Given the description of an element on the screen output the (x, y) to click on. 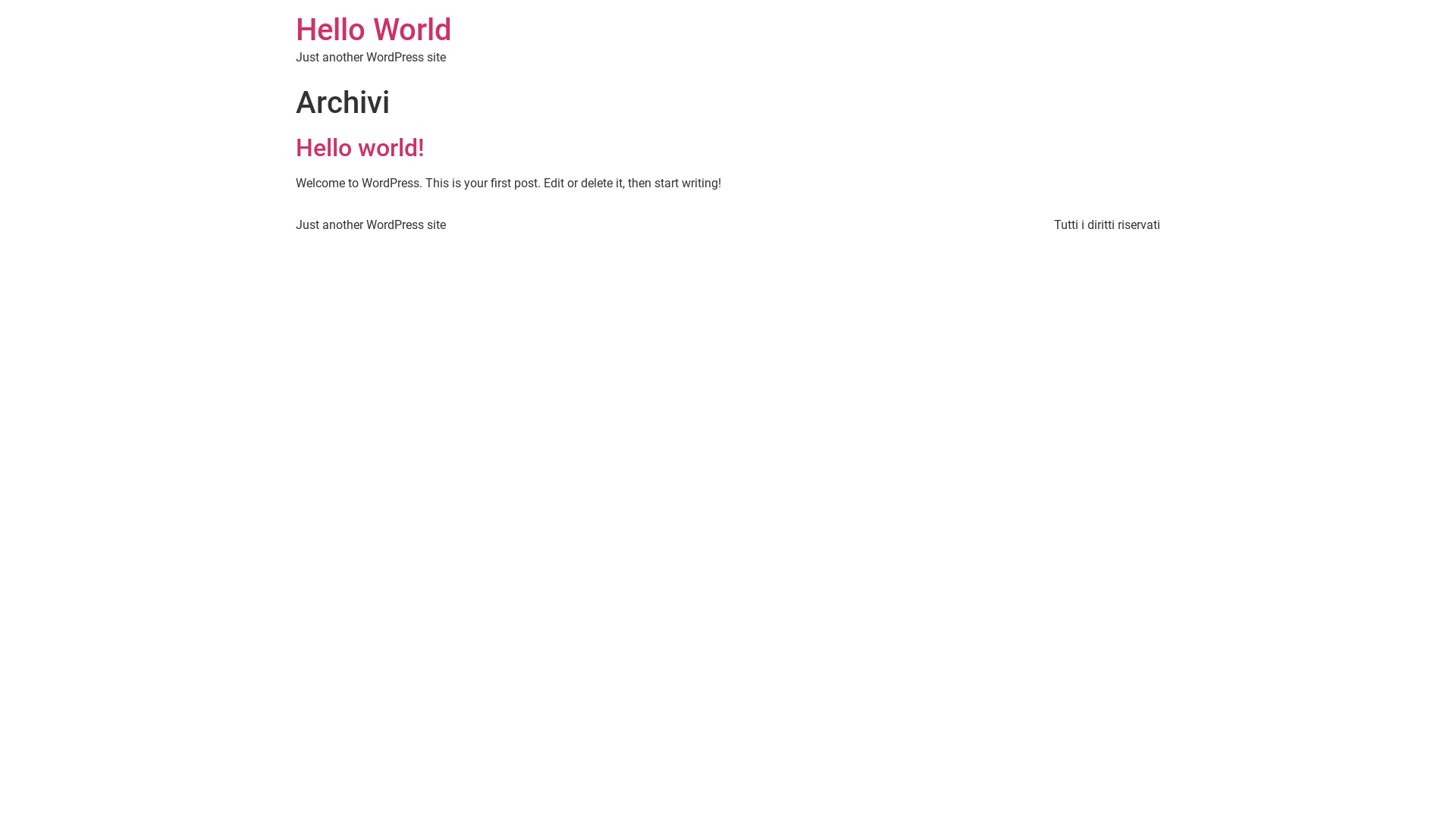
Hello world! Element type: text (359, 147)
Hello World Element type: text (373, 29)
